Given the description of an element on the screen output the (x, y) to click on. 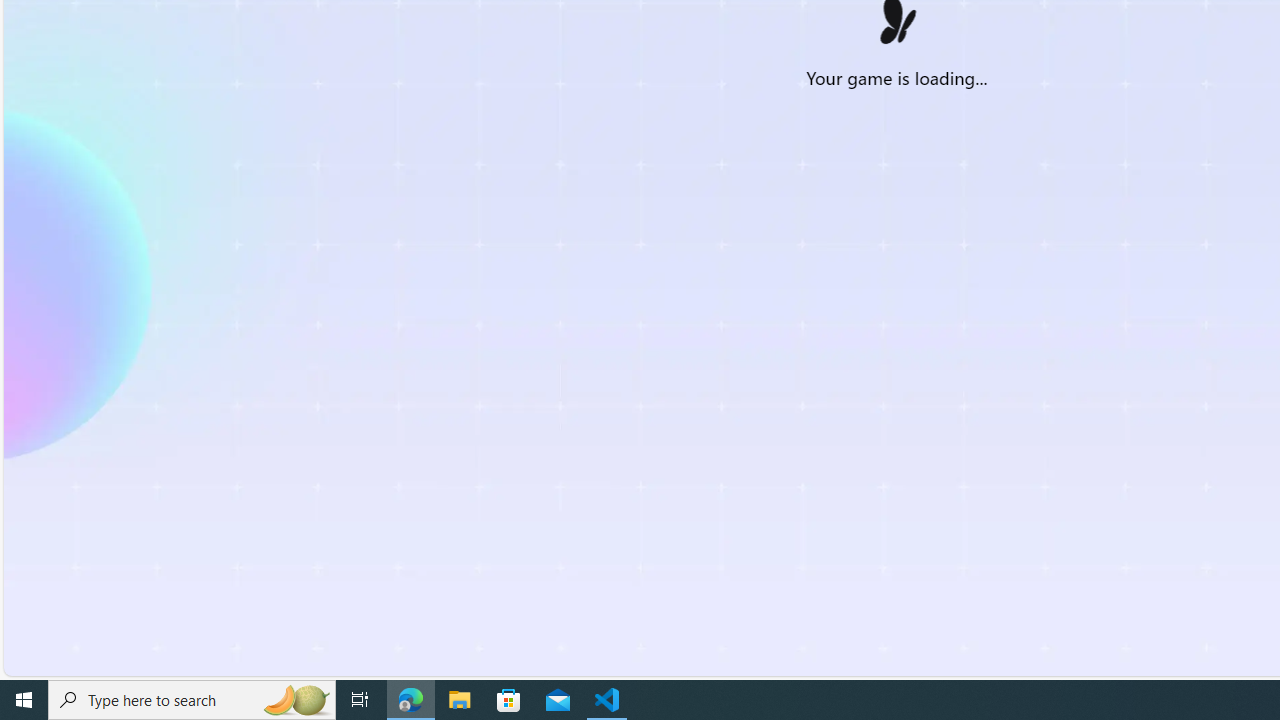
Class: image (896, 26)
